Given the description of an element on the screen output the (x, y) to click on. 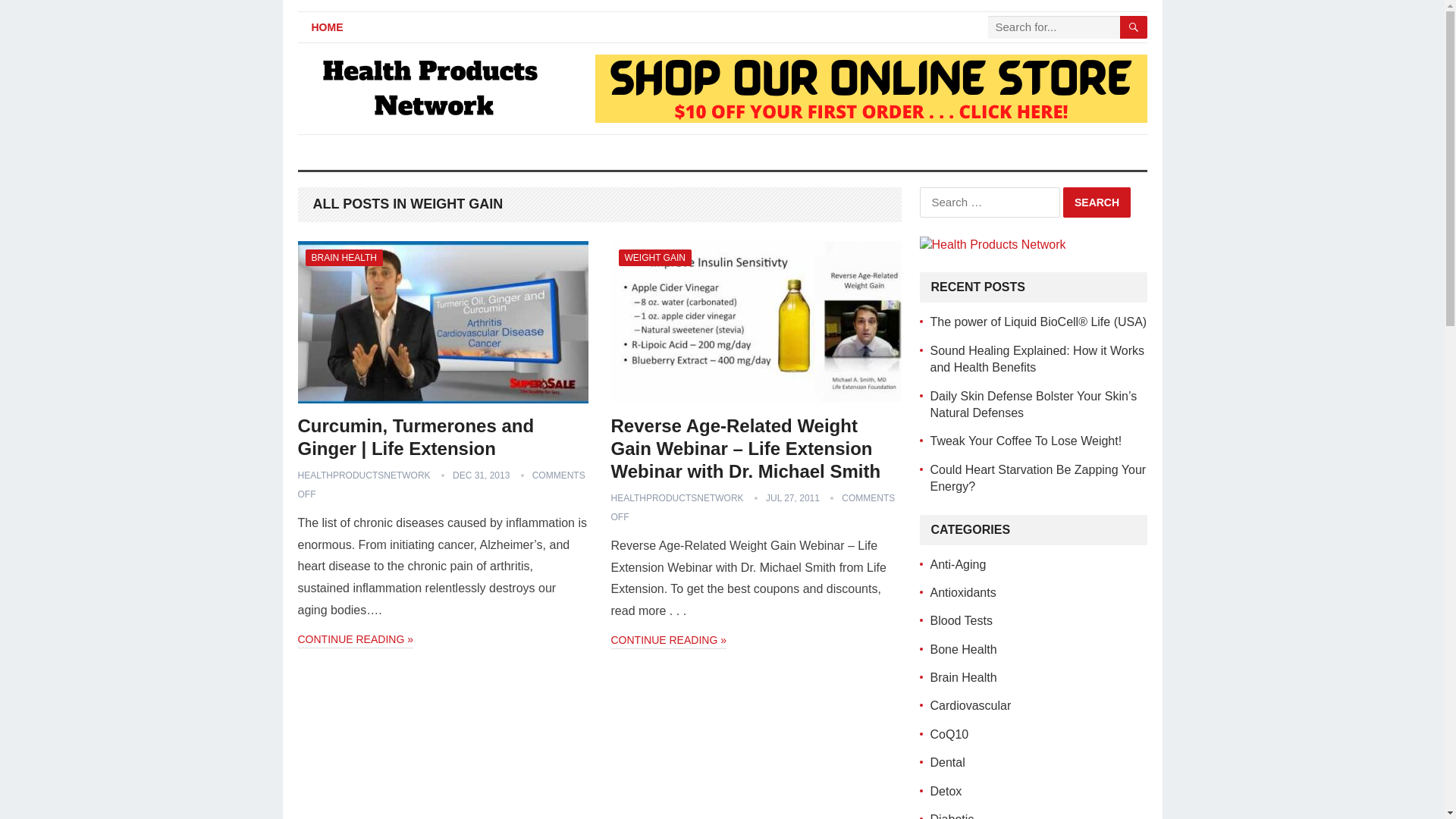
Posts by healthproductsnetwork (363, 475)
Bone Health (962, 649)
Search (1096, 202)
BRAIN HEALTH (342, 257)
Brain Health (962, 676)
Sound Healing Explained: How it Works and Health Benefits (1037, 358)
Antioxidants (962, 592)
Anti-Aging (957, 563)
Detox (945, 790)
Cardiovascular (970, 705)
Diabetic (952, 816)
View all posts in Weight Gain (654, 257)
Blood Tests (960, 620)
Could Heart Starvation Be Zapping Your Energy? (1037, 478)
Search (1096, 202)
